Given the description of an element on the screen output the (x, y) to click on. 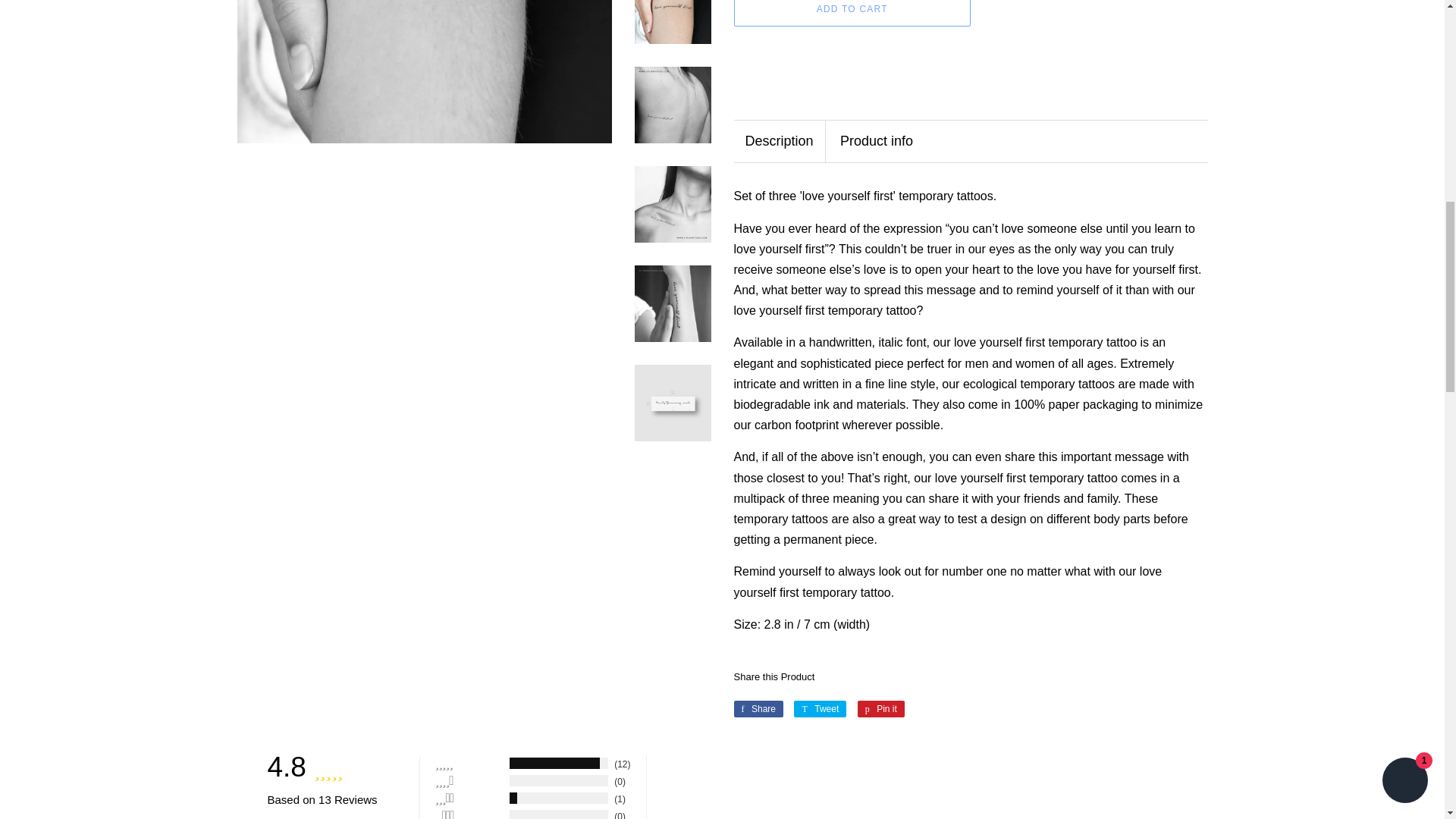
Share on Facebook (758, 709)
Pin on Pinterest (880, 709)
Tweet on Twitter (819, 709)
